Given the description of an element on the screen output the (x, y) to click on. 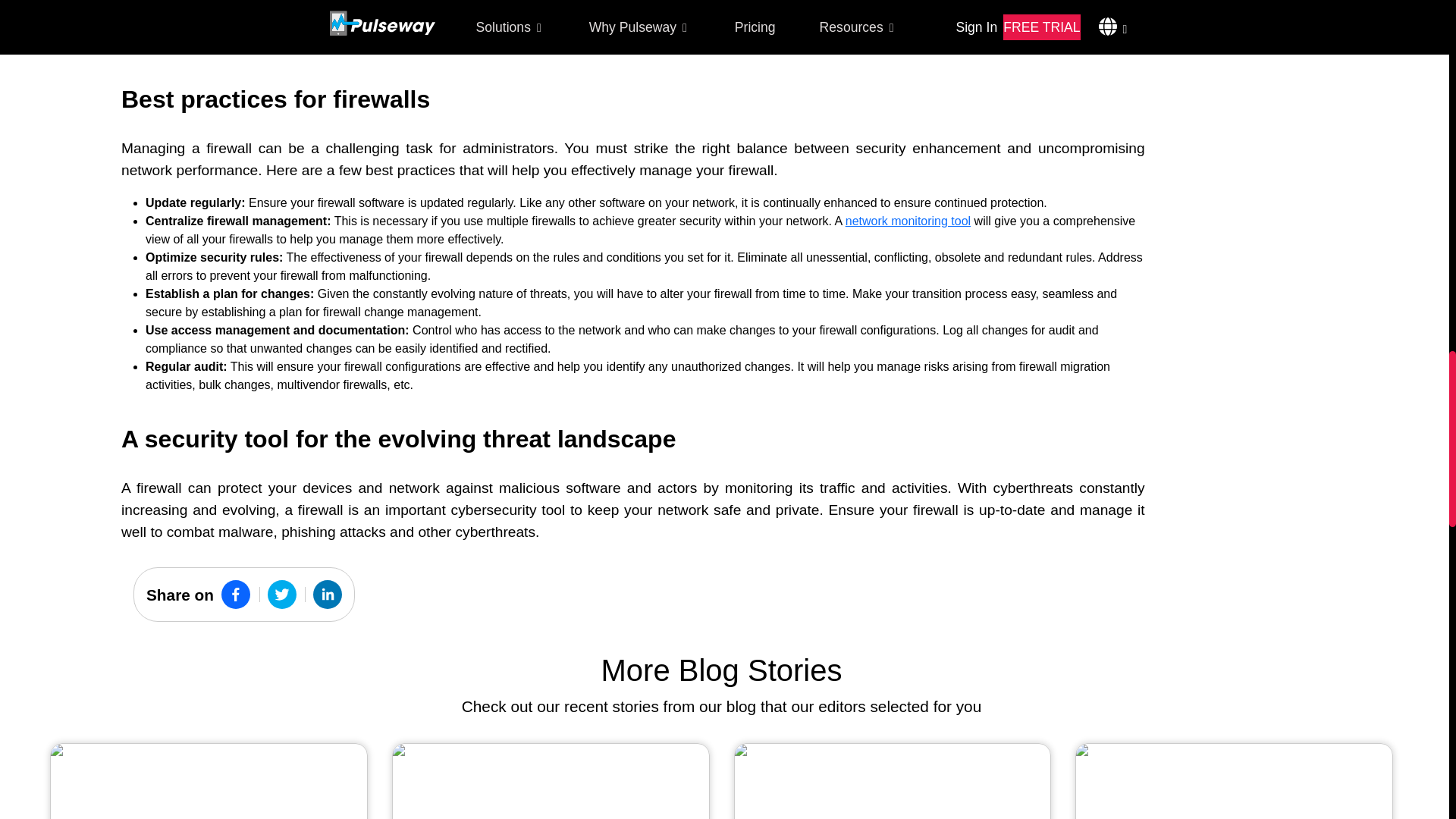
network monitoring tool (908, 220)
Top cybersecurity trends for 2019 (893, 780)
What Is Phishing? (1233, 780)
What Is Antivirus Software? (208, 780)
The Best Ransomware Protection for 2022 (551, 780)
